Given the description of an element on the screen output the (x, y) to click on. 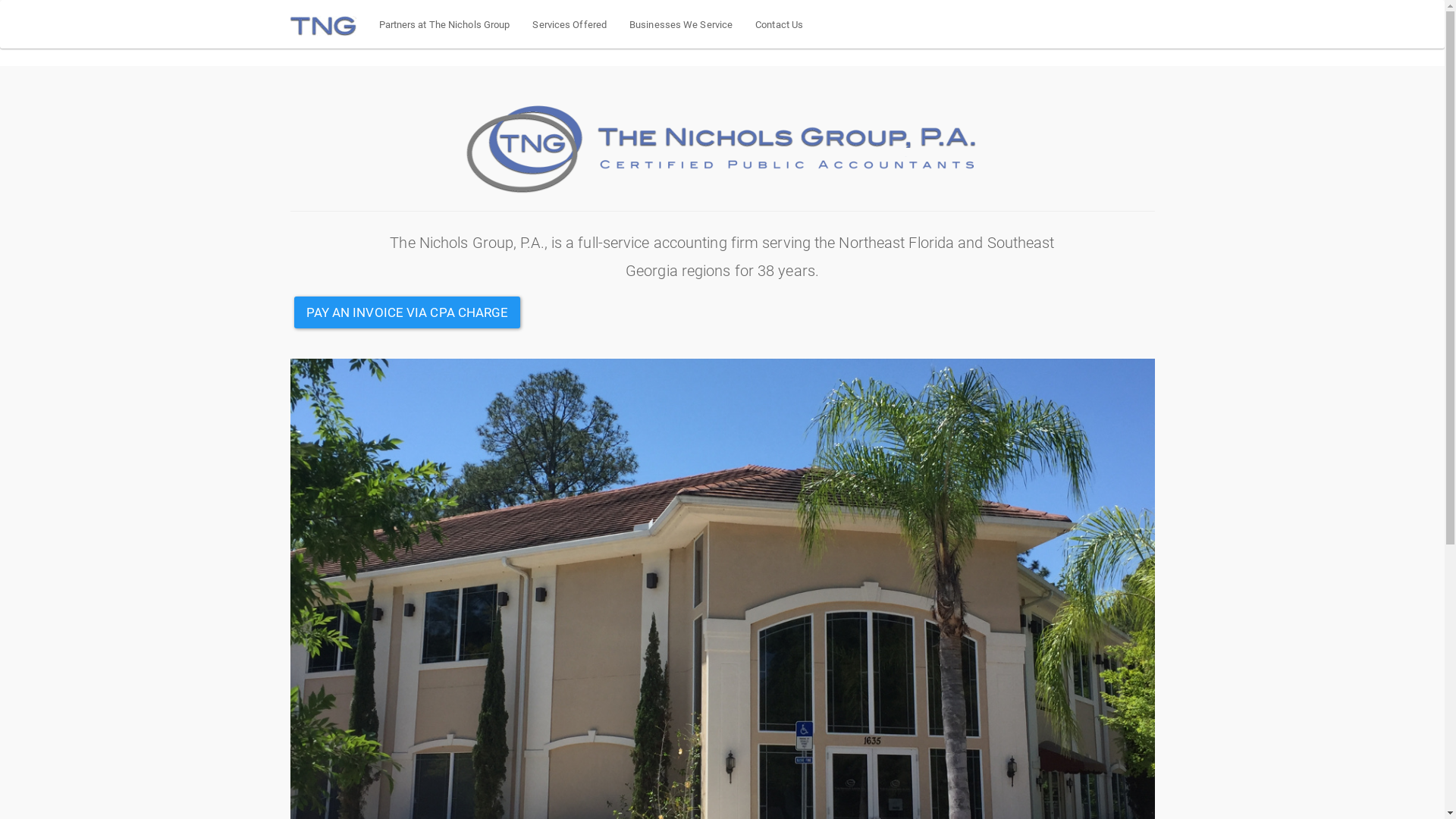
Businesses We Service Element type: text (680, 24)
PAY AN INVOICE VIA CPA CHARGE Element type: text (407, 312)
Partners at The Nichols Group Element type: text (443, 24)
Services Offered Element type: text (569, 24)
Contact Us Element type: text (778, 24)
